Given the description of an element on the screen output the (x, y) to click on. 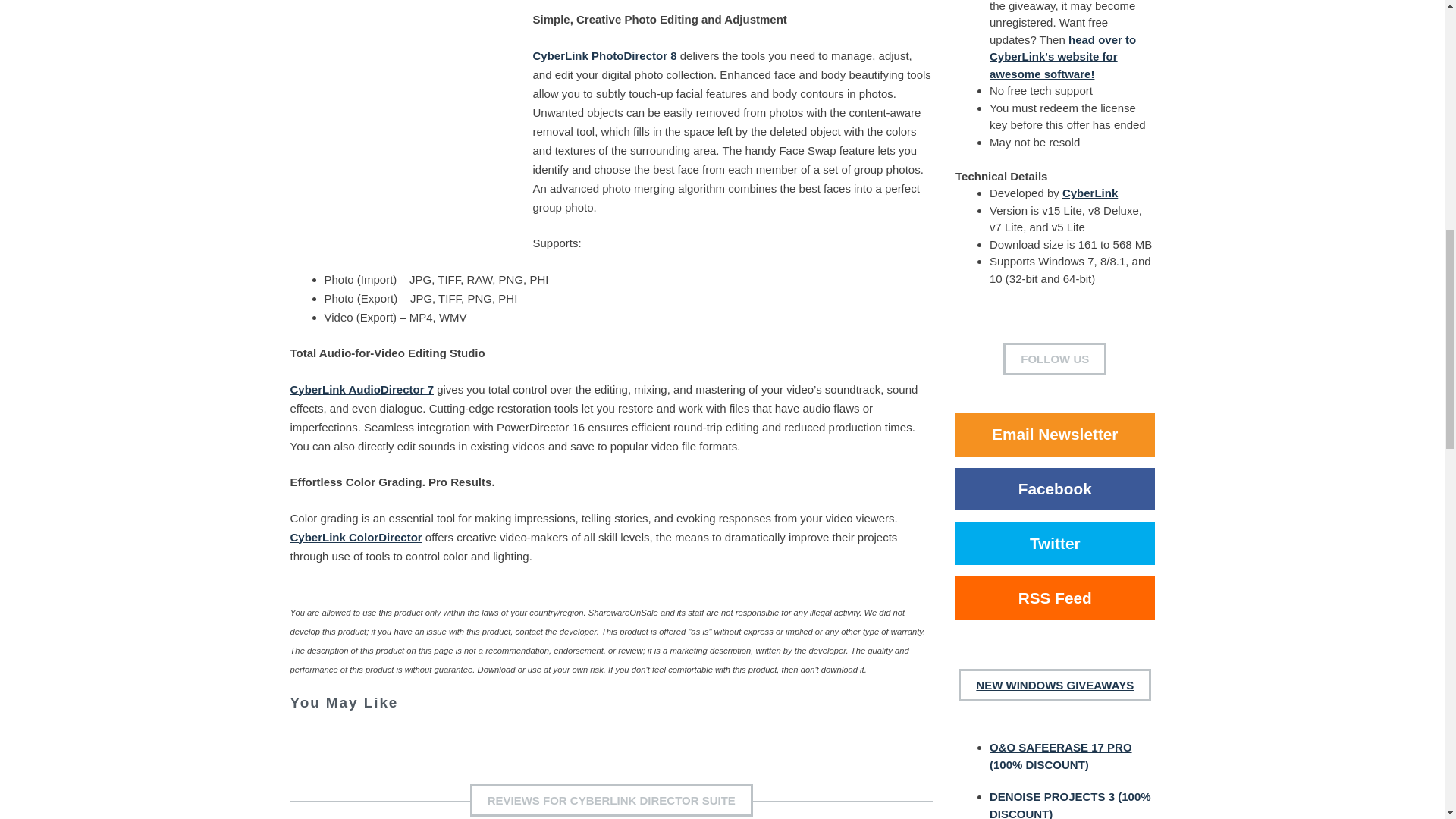
CyberLink (1090, 192)
CyberLink ColorDirector (355, 536)
CyberLink AudioDirector 7 (360, 388)
Facebook (1054, 489)
head over to CyberLink's website for awesome software! (1062, 56)
CyberLink PhotoDirector 8 (604, 54)
Email Newsletter (1054, 434)
Twitter (1054, 543)
RSS Feed (1054, 597)
